Given the description of an element on the screen output the (x, y) to click on. 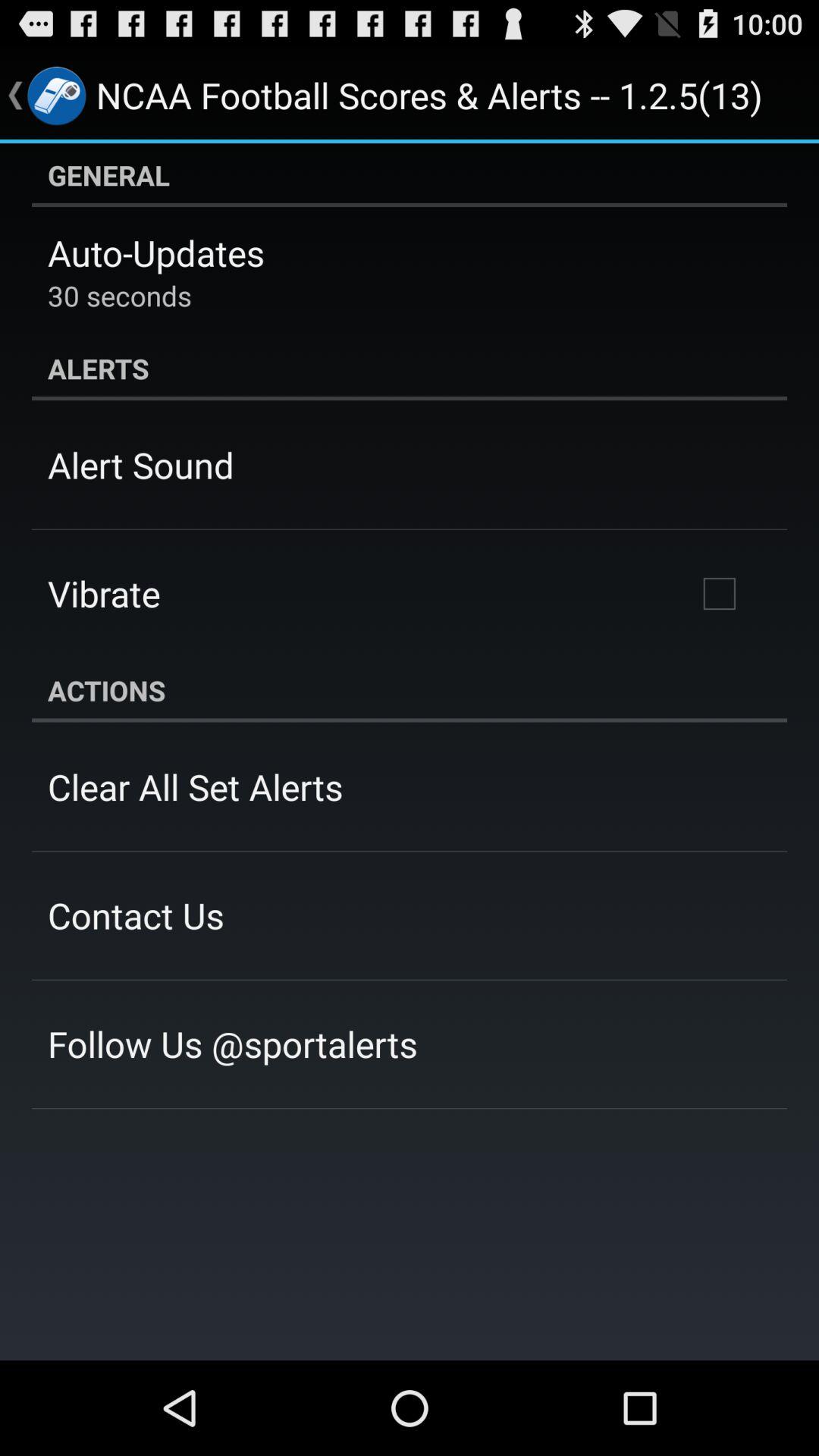
press app above 30 seconds (155, 252)
